Given the description of an element on the screen output the (x, y) to click on. 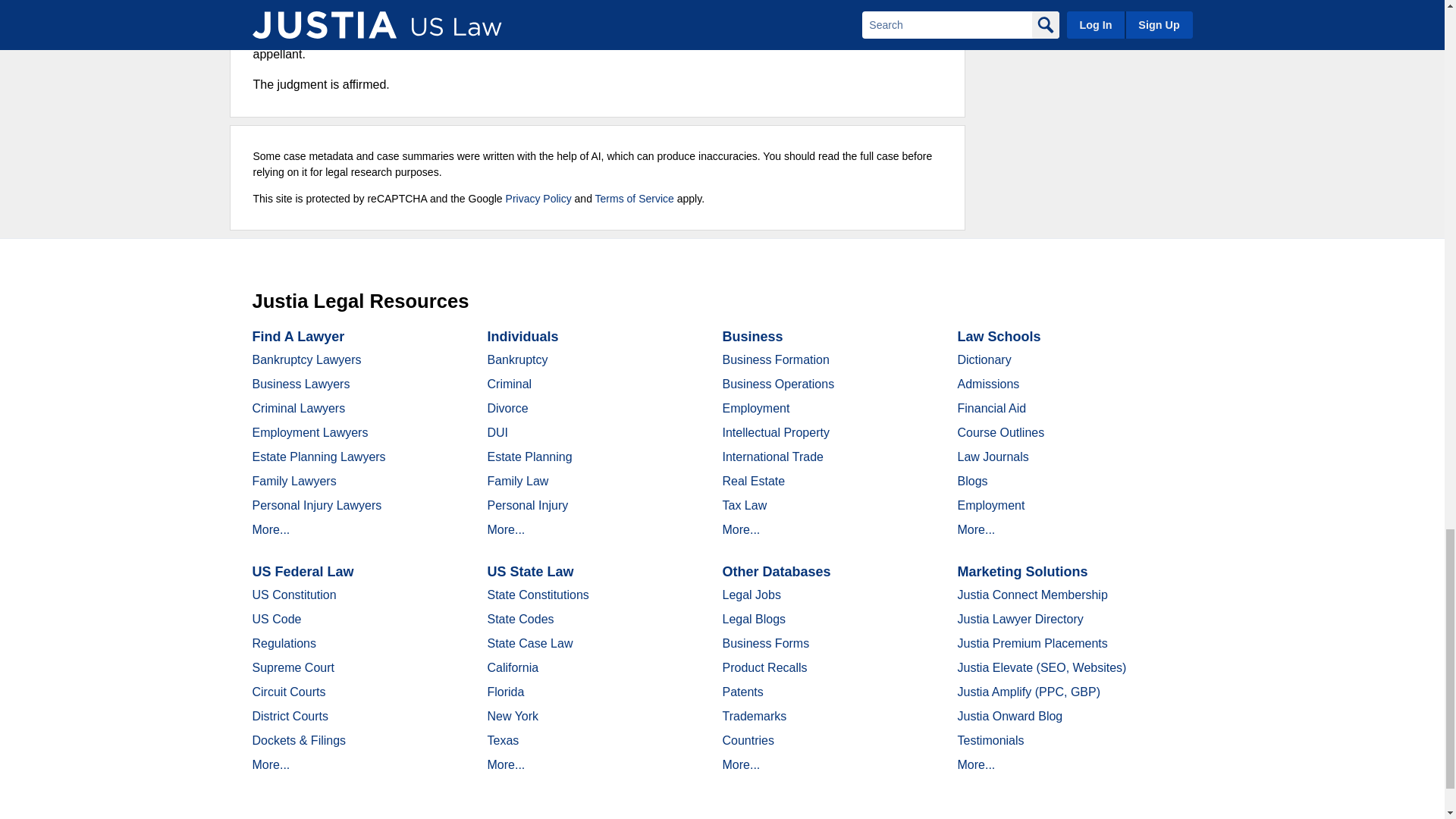
Privacy Policy (538, 198)
